Given the description of an element on the screen output the (x, y) to click on. 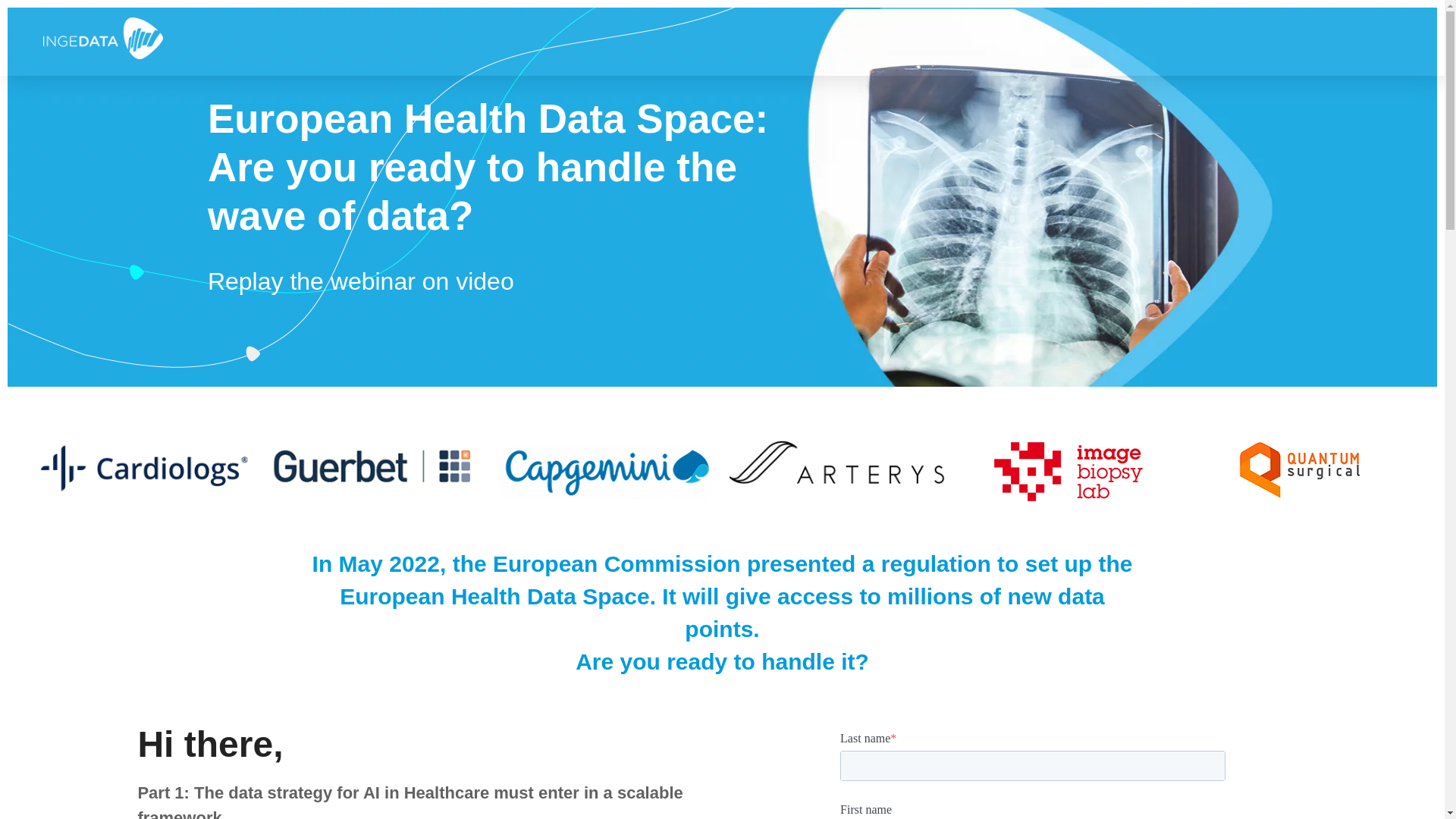
Webinar Health Dec 2022 (103, 38)
